Given the description of an element on the screen output the (x, y) to click on. 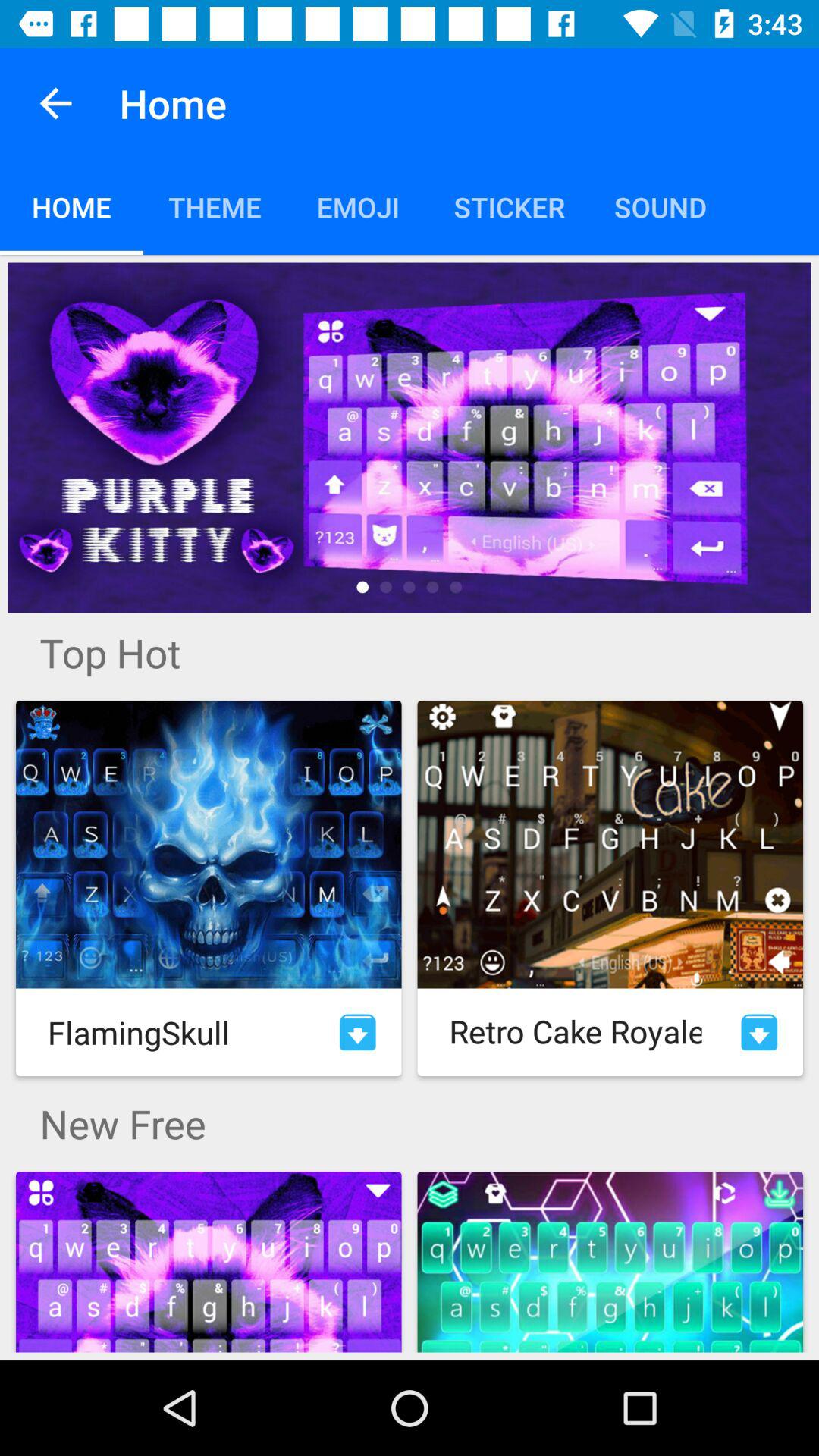
press item above home (55, 103)
